Given the description of an element on the screen output the (x, y) to click on. 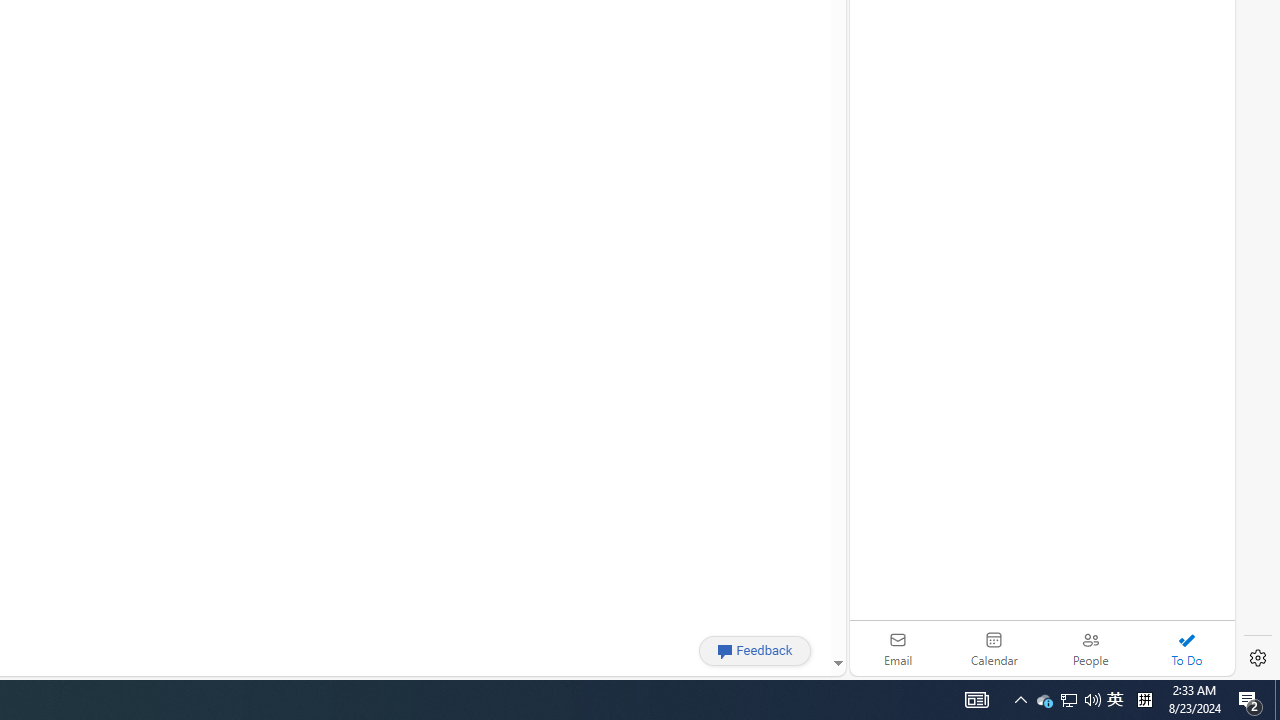
Calendar. Date today is 22 (994, 648)
People (1090, 648)
To Do (1186, 648)
Email (898, 648)
